Given the description of an element on the screen output the (x, y) to click on. 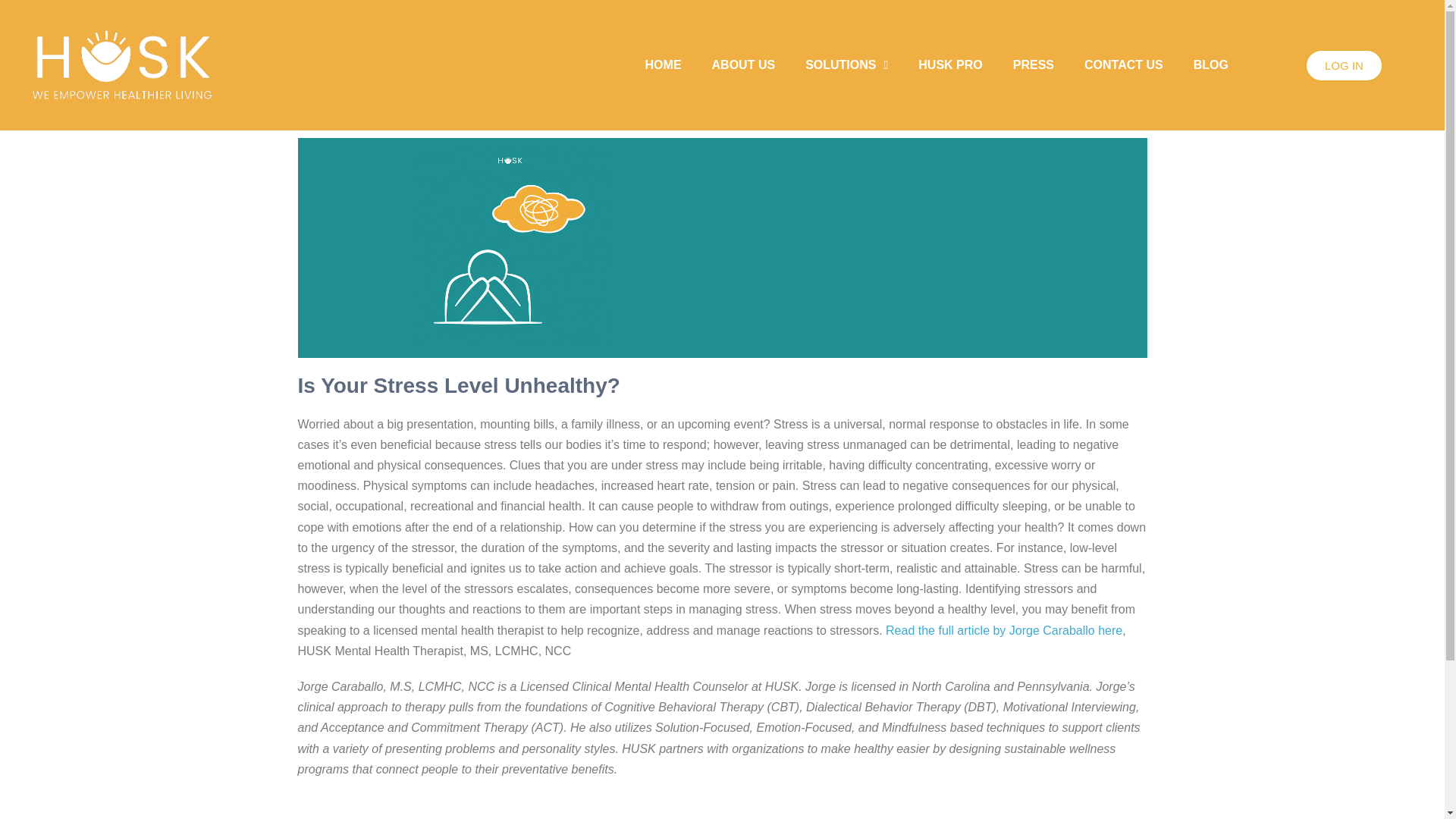
BLOG (1210, 64)
READ MORE (660, 818)
ABOUT US (743, 64)
BOOK TODAY (786, 818)
HUSK PRO (949, 64)
CONTACT US (1122, 64)
HOME (663, 64)
PRESS (1032, 64)
Read the full article by Jorge Caraballo here (1003, 630)
SOLUTIONS (846, 64)
LOG IN (1343, 65)
